Given the description of an element on the screen output the (x, y) to click on. 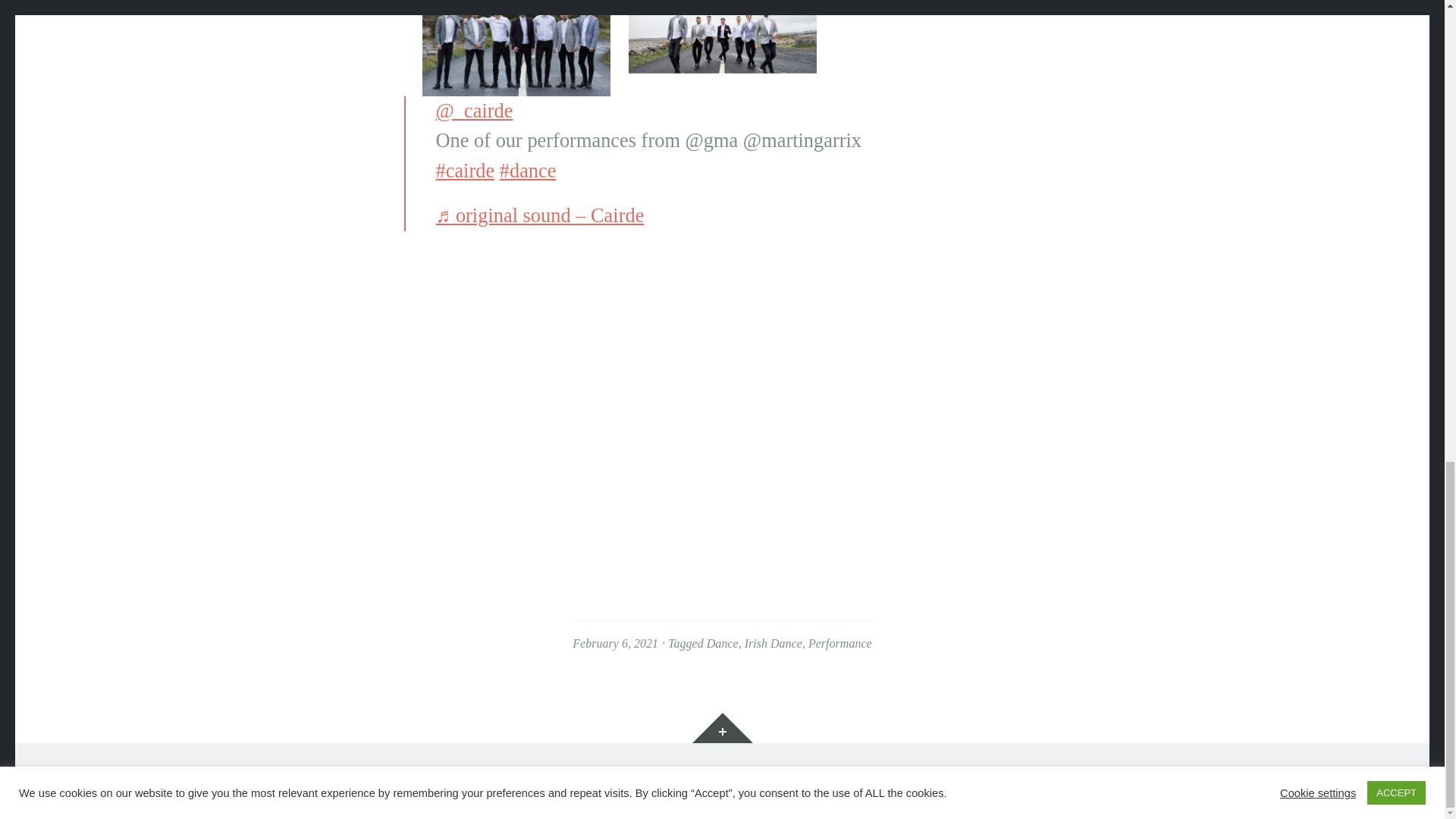
WordPress.com (635, 773)
Proudly powered by WordPress (390, 773)
cairde (465, 169)
Irish Dance (773, 643)
dance (527, 169)
February 6, 2021 (615, 643)
Dance (722, 643)
Performance (840, 643)
Widgets (721, 727)
